Given the description of an element on the screen output the (x, y) to click on. 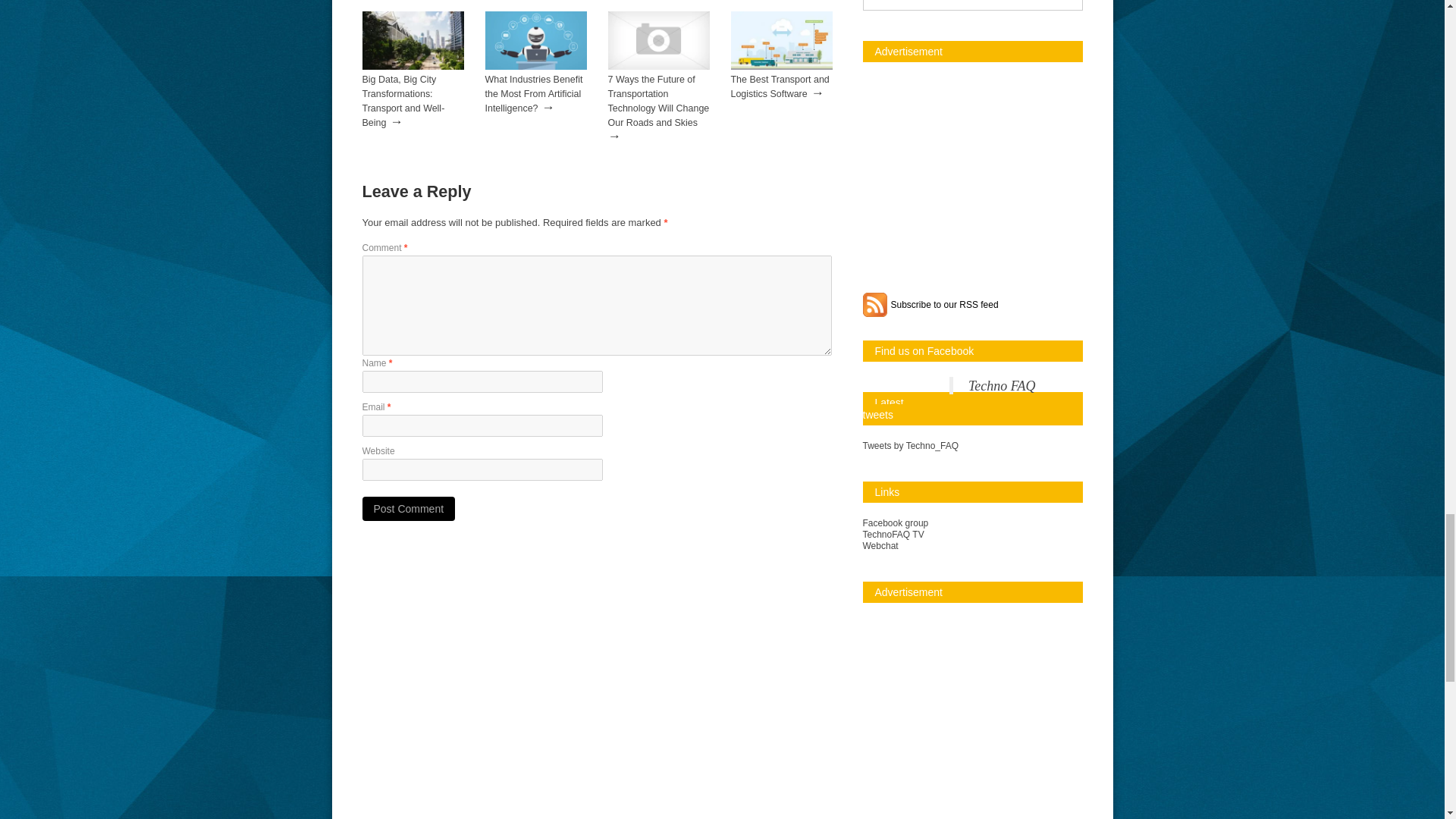
Post Comment (408, 508)
The Best Transport and Logistics Software (779, 86)
Post Comment (408, 508)
The Best Transport and Logistics Software (779, 86)
The Best Transport and Logistics Software (781, 66)
Big Data, Big City Transformations: Transport and Well-Being (403, 100)
Big Data, Big City Transformations: Transport and Well-Being (403, 100)
Big Data, Big City Transformations: Transport and Well-Being (413, 66)
